Given the description of an element on the screen output the (x, y) to click on. 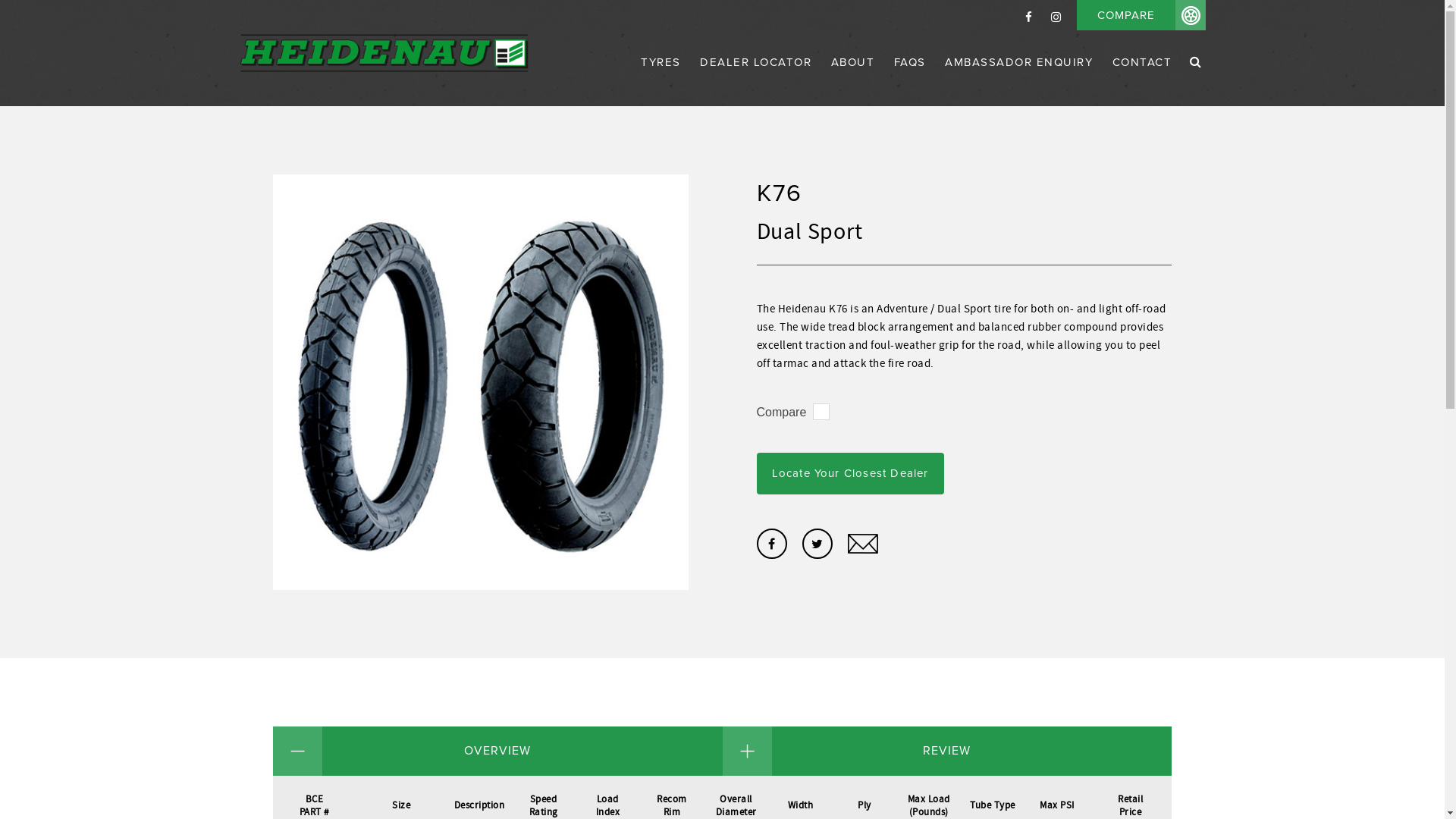
ABOUT Element type: text (852, 79)
DEALER LOCATOR Element type: text (755, 79)
COMPARE Element type: text (1140, 15)
AMBASSADOR ENQUIRY Element type: text (1018, 79)
Locate Your Closest Dealer Element type: text (850, 473)
TYRES Element type: text (660, 79)
CONTACT Element type: text (1138, 79)
Heidenau Element type: hover (383, 53)
Compare Element type: text (781, 412)
FAQS Element type: text (909, 79)
